Given the description of an element on the screen output the (x, y) to click on. 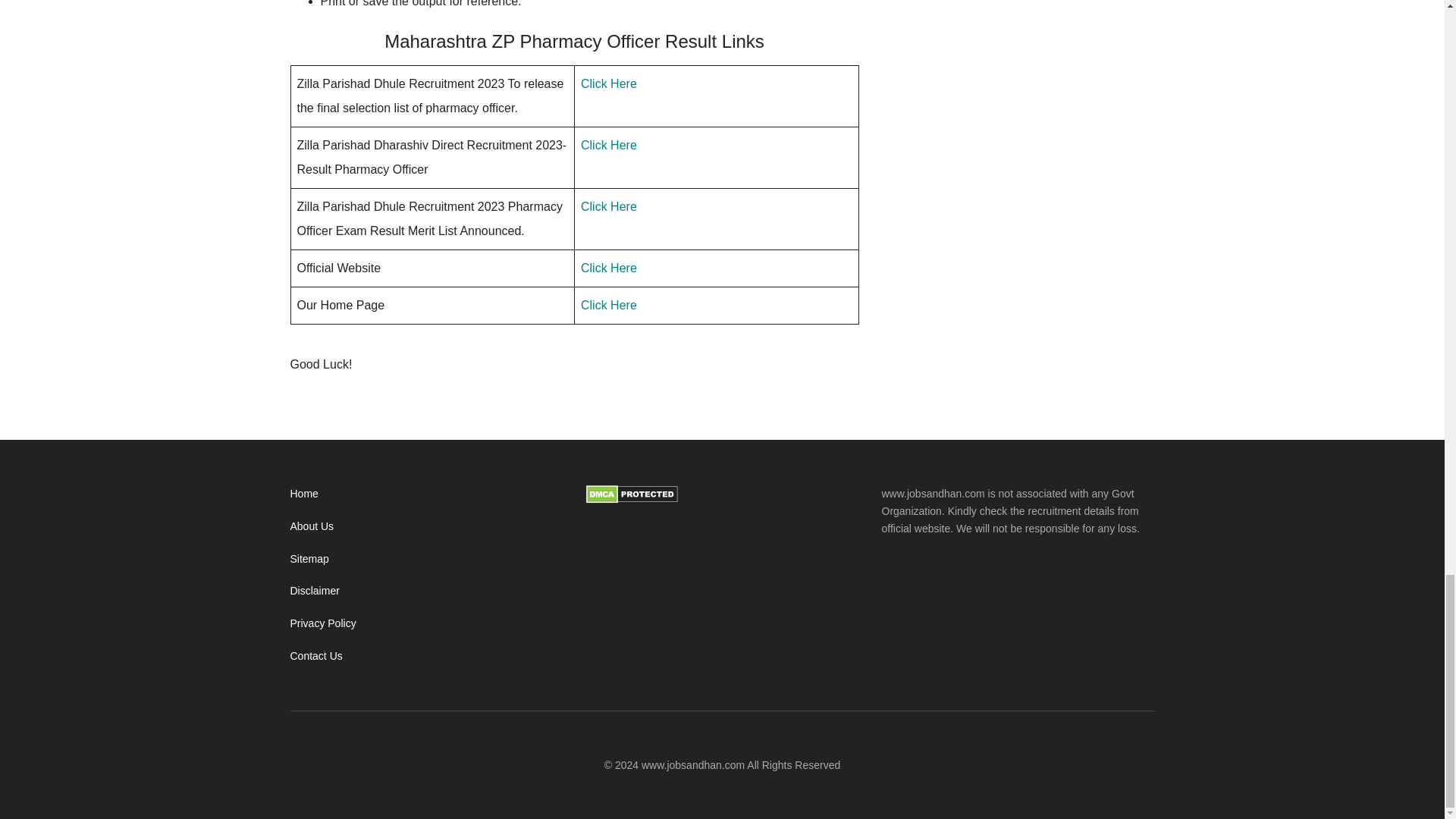
Click Here (608, 83)
Privacy Policy (322, 623)
Click Here (608, 205)
Home (303, 493)
Contact Us (315, 655)
Sitemap (309, 558)
Click Here (608, 267)
DMCA.com Protection Status (631, 499)
Click Here (608, 144)
Disclaimer (314, 590)
Click Here (608, 305)
About Us (311, 526)
